Given the description of an element on the screen output the (x, y) to click on. 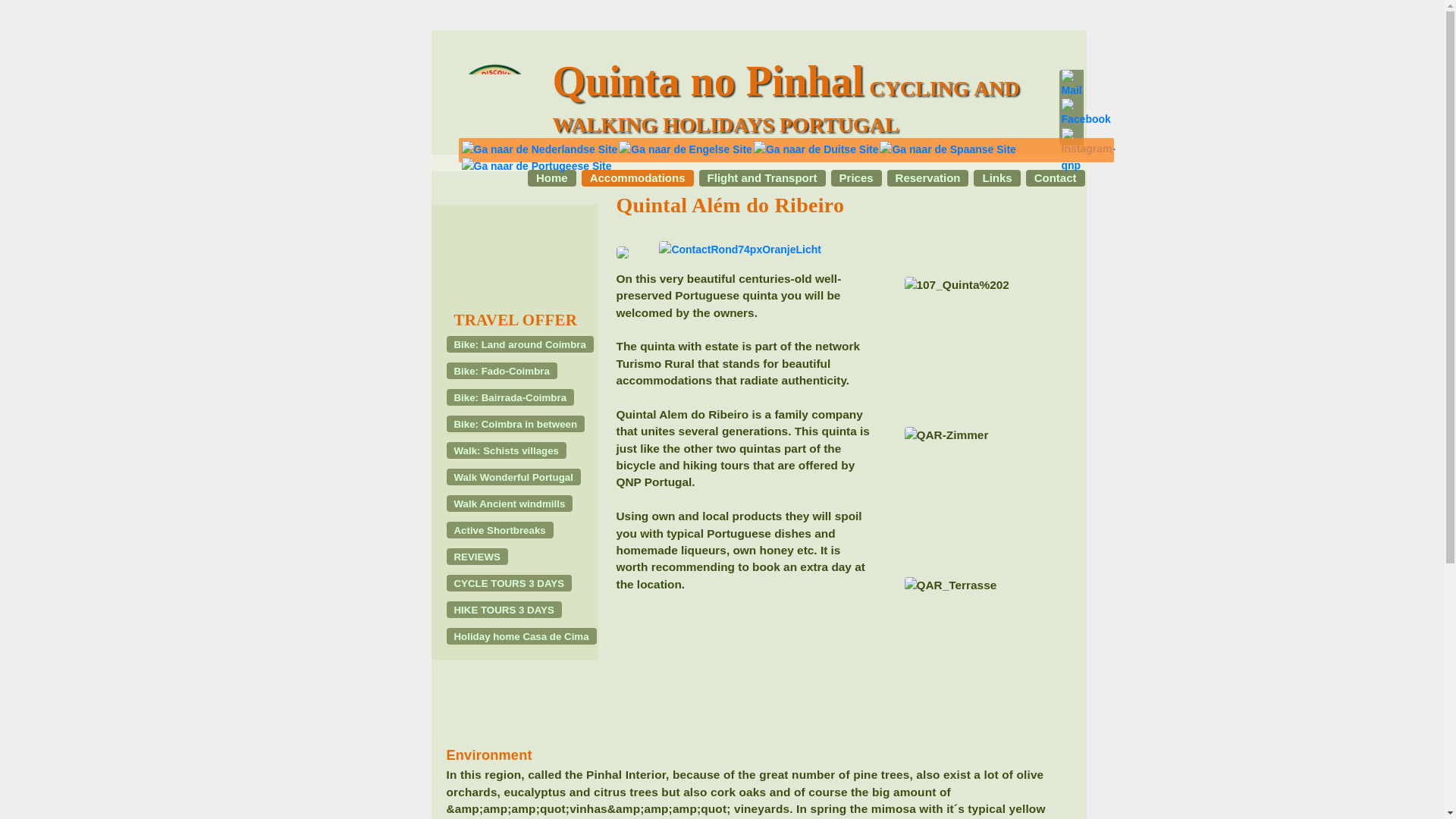
Reservation (927, 177)
Contact (1055, 177)
Flight and Transport (761, 177)
Home (551, 177)
Bike: Coimbra in between (515, 423)
Links (997, 177)
Accommodations (637, 177)
Bike: Land around Coimbra (518, 343)
Bike: Fado-Coimbra (500, 370)
Prices (856, 177)
